Given the description of an element on the screen output the (x, y) to click on. 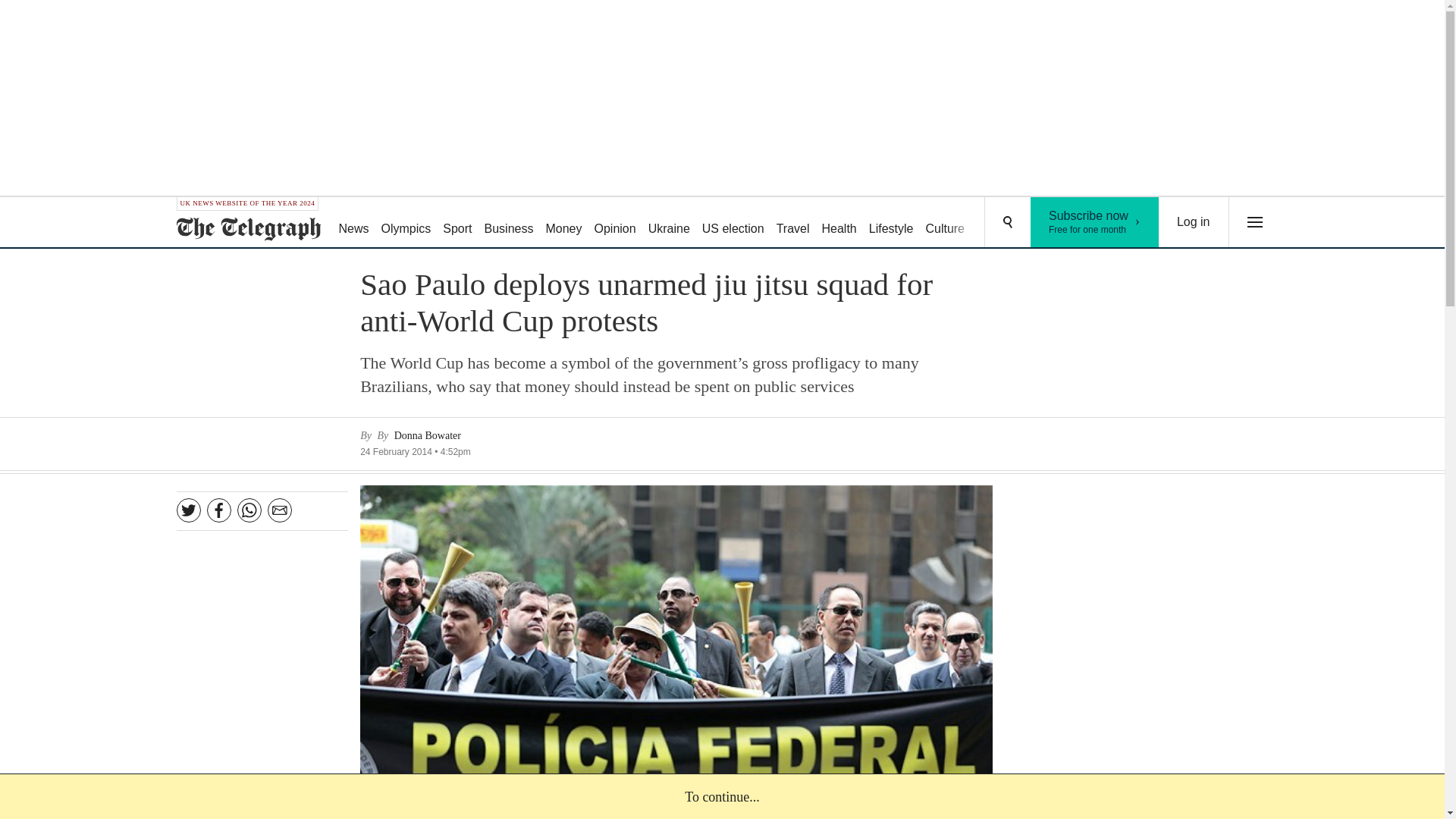
Podcasts (1056, 223)
US election (732, 223)
Olympics (406, 223)
Lifestyle (1094, 222)
Money (891, 223)
Business (563, 223)
Opinion (509, 223)
Puzzles (615, 223)
Travel (998, 223)
Ukraine (792, 223)
Log in (668, 223)
Culture (1193, 222)
Health (944, 223)
